Given the description of an element on the screen output the (x, y) to click on. 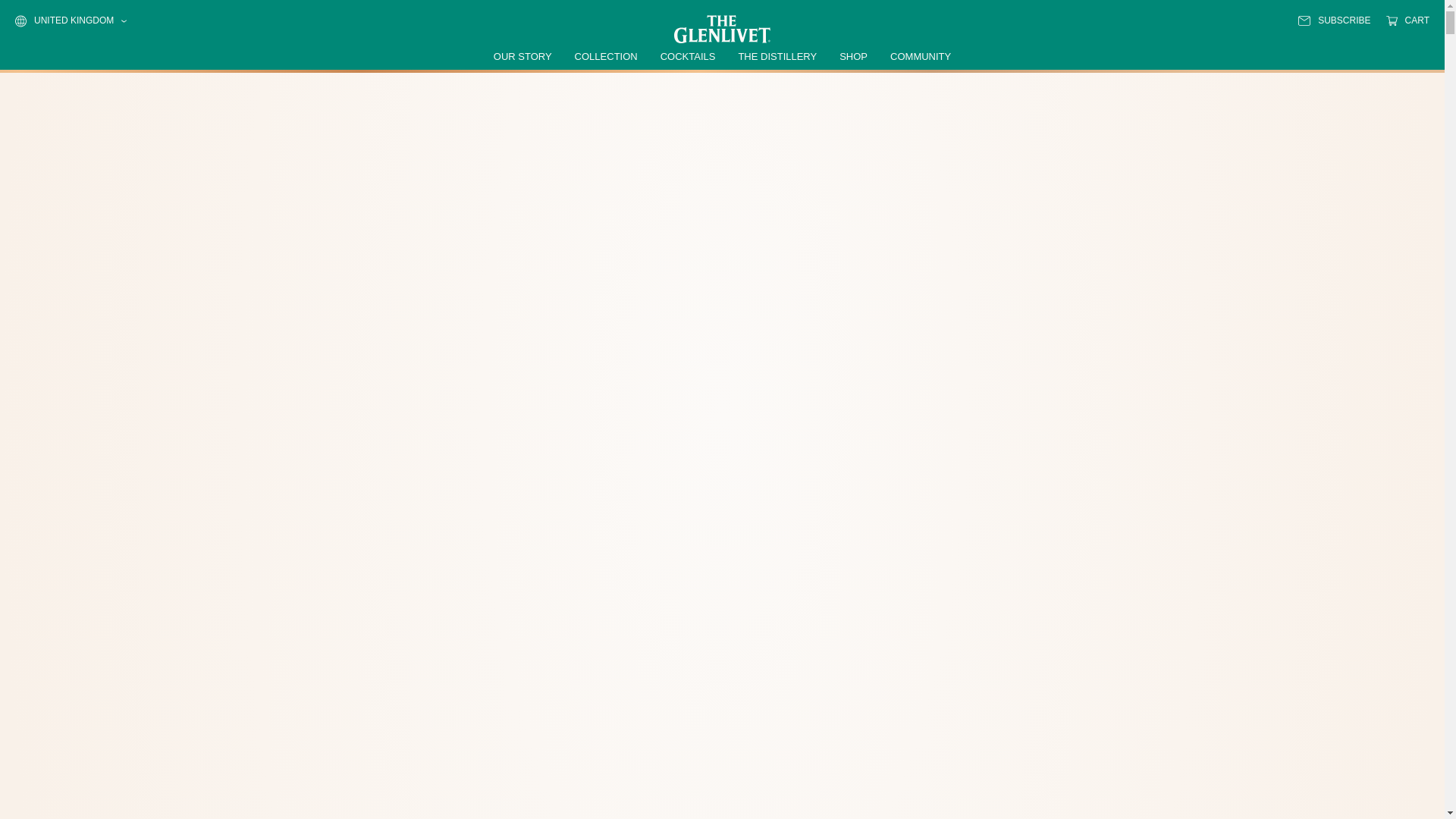
THE DISTILLERY (777, 56)
COLLECTION (606, 56)
OUR STORY (522, 56)
COMMUNITY (919, 56)
CART (1407, 20)
UNITED KINGDOM (70, 21)
SHOP (853, 56)
COCKTAILS (688, 56)
SUBSCRIBE (1334, 20)
